Given the description of an element on the screen output the (x, y) to click on. 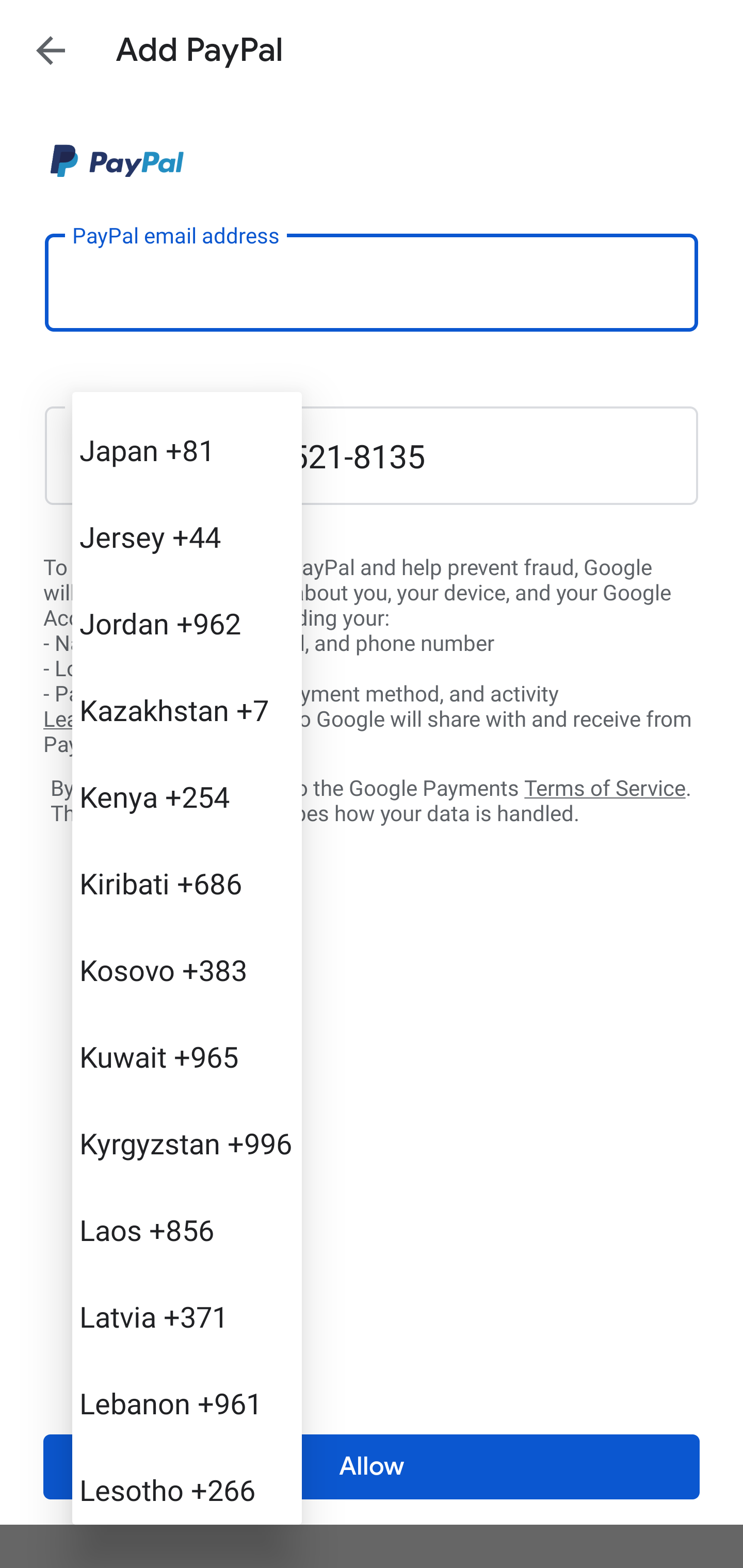
Japan +81 (186, 449)
Jersey +44 (186, 536)
Jordan +962 (186, 623)
Kazakhstan +7 (186, 709)
Kenya +254 (186, 796)
Kiribati +686 (186, 883)
Kosovo +383 (186, 969)
Kuwait +965 (186, 1055)
Kyrgyzstan +996 (186, 1142)
Laos +856 (186, 1229)
Latvia +371 (186, 1316)
Lebanon +961 (186, 1402)
Lesotho +266 (186, 1484)
